Given the description of an element on the screen output the (x, y) to click on. 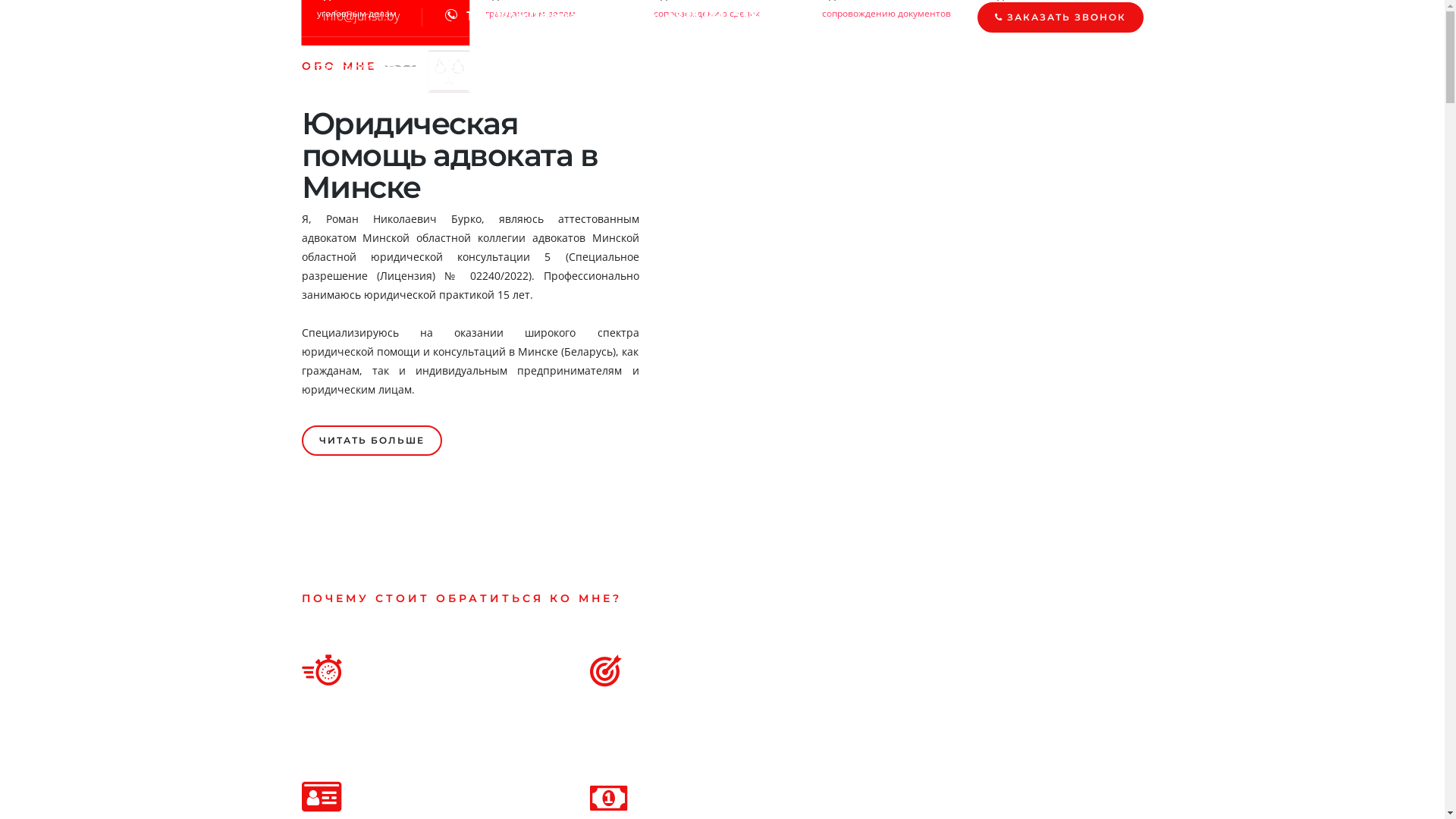
Viber Element type: text (511, 15)
info@juristi.by Element type: text (361, 15)
Telegram Element type: text (560, 15)
Whatsapp Element type: text (624, 15)
